Given the description of an element on the screen output the (x, y) to click on. 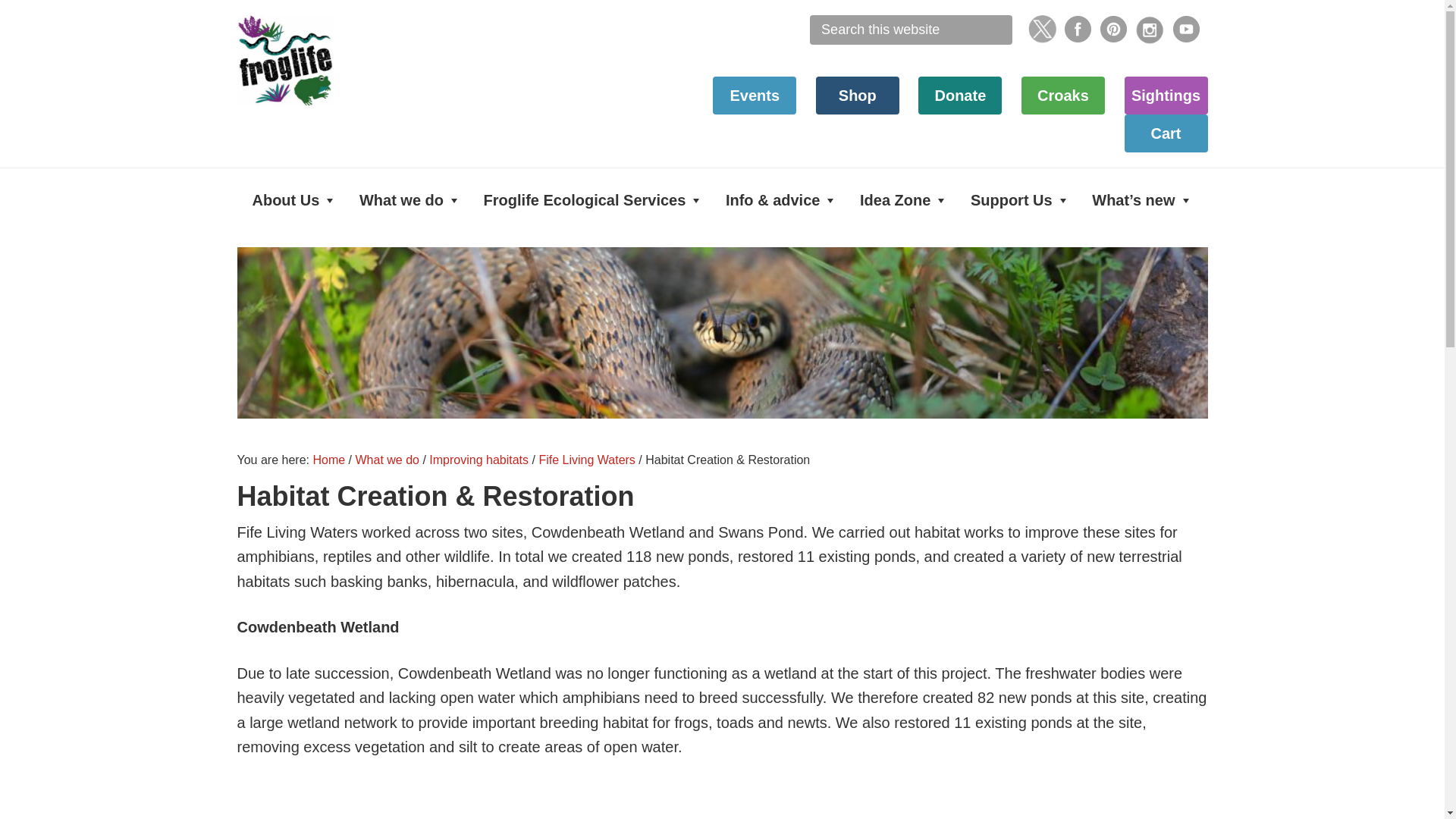
Donate (959, 94)
Search this website (910, 30)
Events (754, 94)
Sightings (1165, 94)
Froglife (349, 60)
Croaks (1063, 94)
Shop (857, 94)
About Us (294, 199)
Search (1017, 18)
Search (1017, 18)
Search this website (910, 30)
Cart (1165, 132)
What we do (410, 199)
Search (1017, 18)
